Given the description of an element on the screen output the (x, y) to click on. 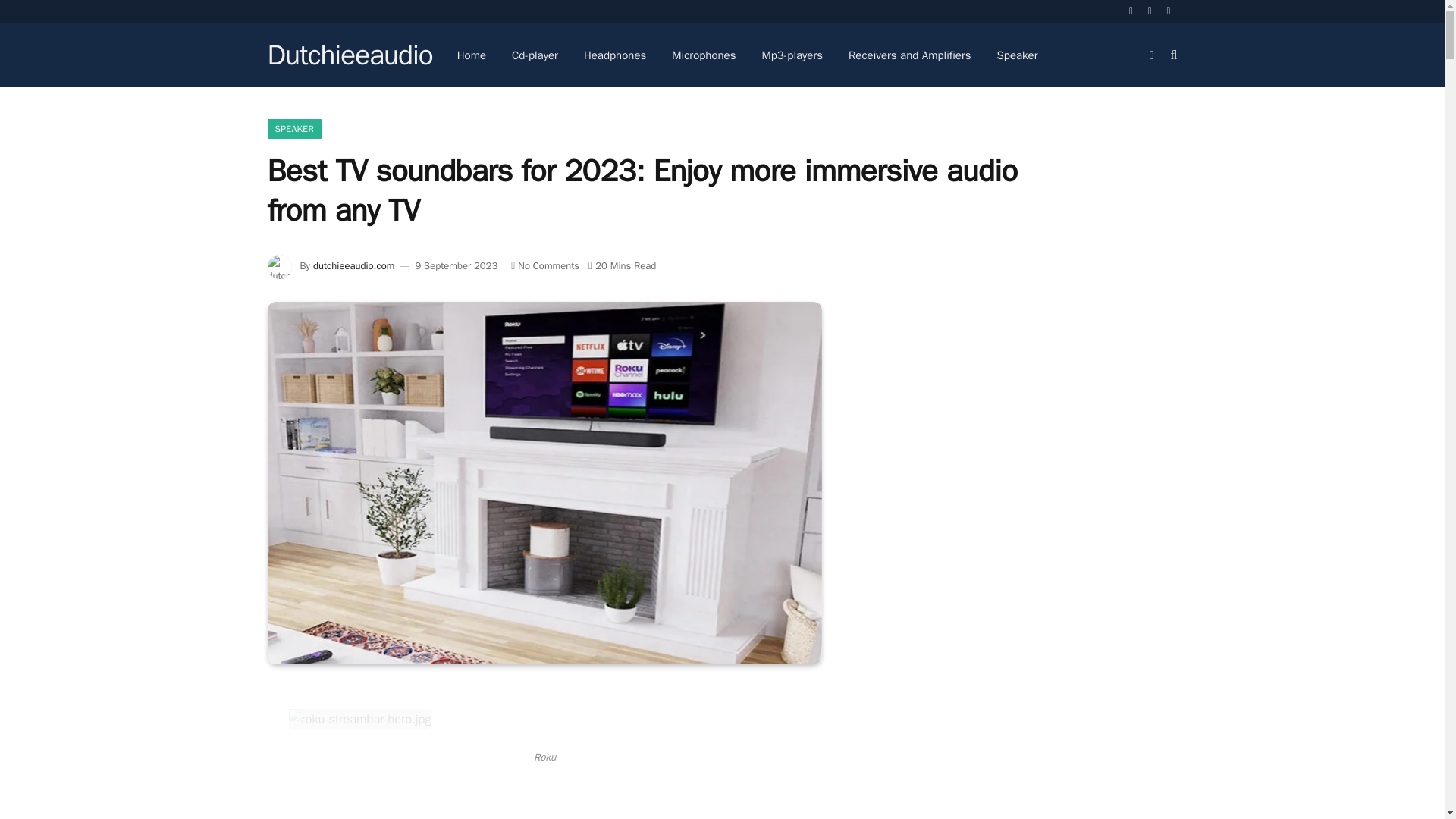
Cd-player (534, 54)
SPEAKER (293, 128)
Dutchieeaudio (349, 55)
Switch to Dark Design - easier on eyes. (1151, 54)
Microphones (703, 54)
No Comments (545, 265)
Mp3-players (791, 54)
Speaker (1017, 54)
Receivers and Amplifiers (909, 54)
